Given the description of an element on the screen output the (x, y) to click on. 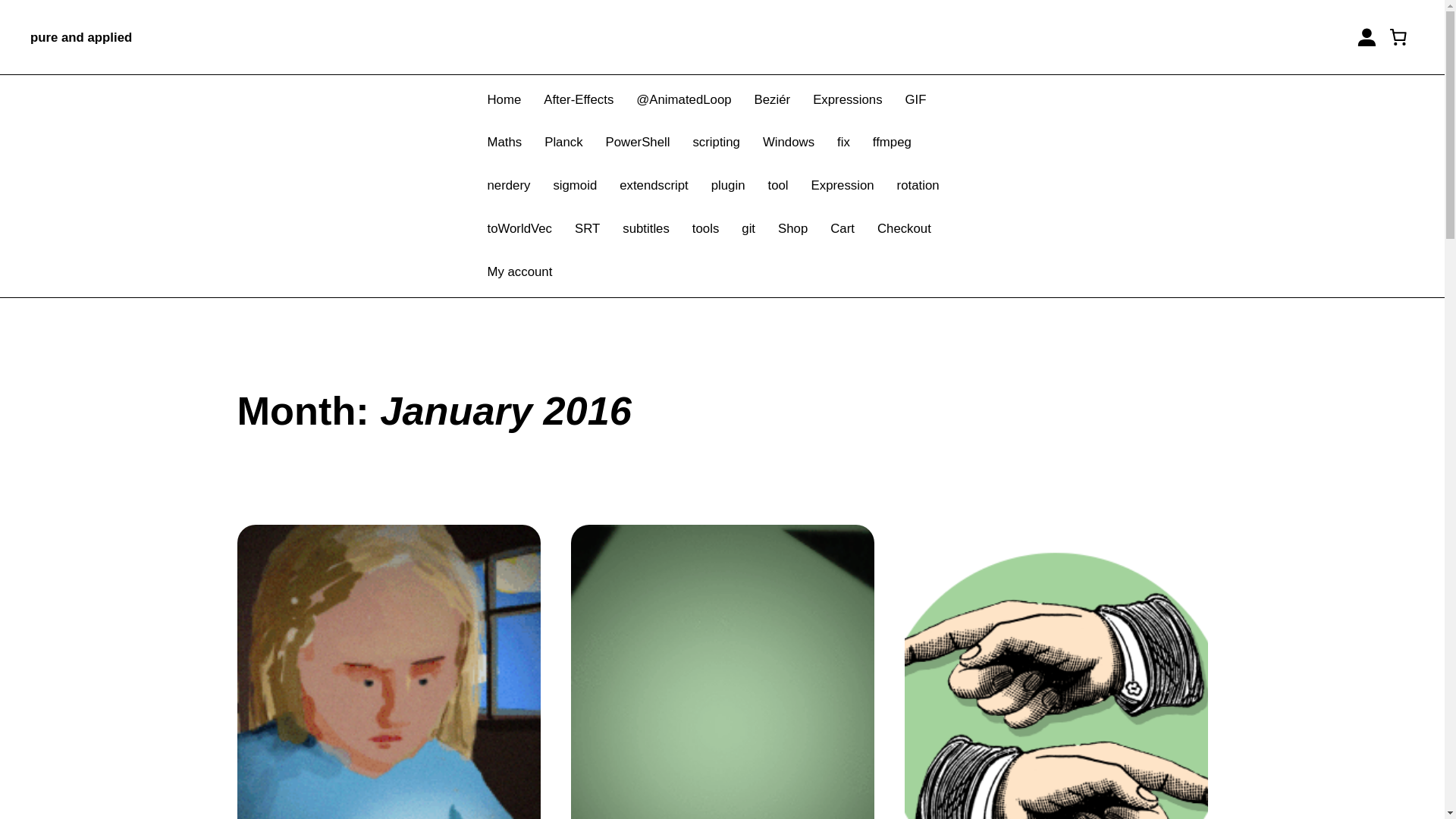
subtitles (646, 229)
Expression (842, 186)
ffmpeg (891, 142)
sigmoid (574, 186)
Home (503, 100)
Expressions (847, 100)
After-Effects (577, 100)
Shop (792, 229)
PowerShell (637, 142)
Planck (563, 142)
